Given the description of an element on the screen output the (x, y) to click on. 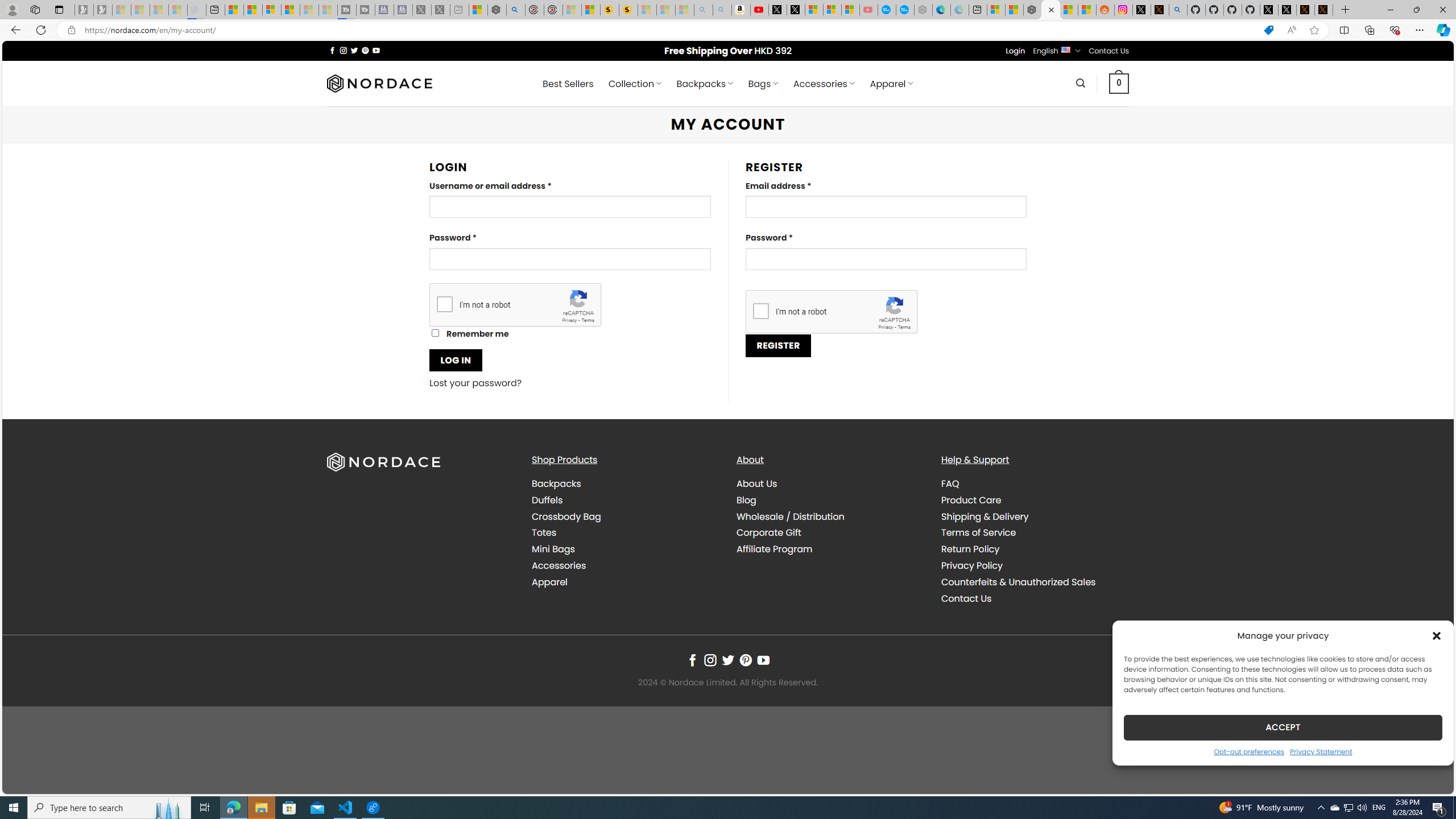
Blog (746, 499)
Backpacks (555, 483)
Accessories (625, 565)
Day 1: Arriving in Yemen (surreal to be here) - YouTube (759, 9)
Microsoft account | Microsoft Account Privacy Settings (996, 9)
Blog (830, 499)
